Given the description of an element on the screen output the (x, y) to click on. 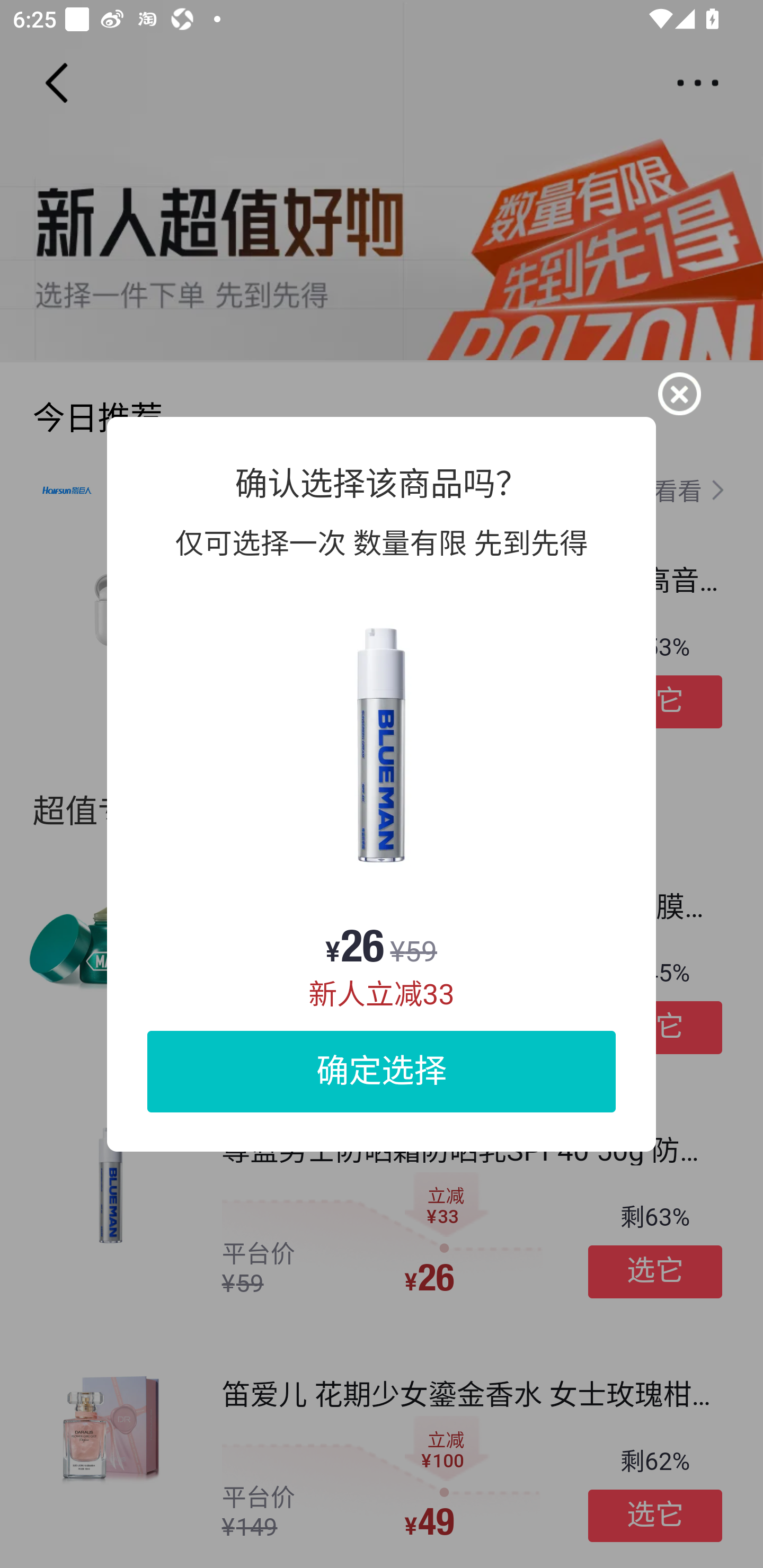
确定选择 (381, 1070)
